Given the description of an element on the screen output the (x, y) to click on. 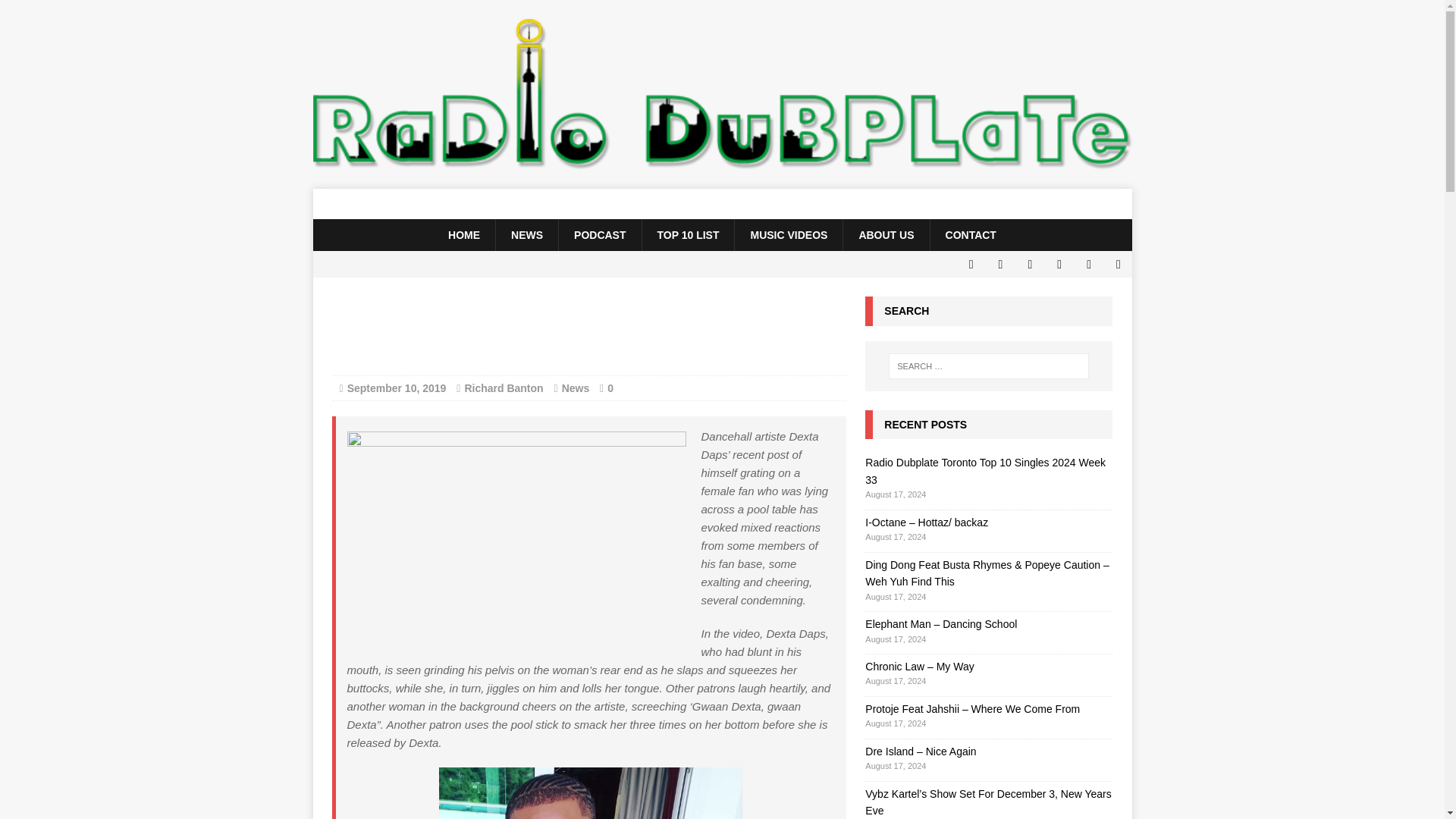
News (575, 387)
TOP 10 LIST (688, 234)
HOME (463, 234)
NEWS (526, 234)
Radio Dubplate (722, 204)
September 10, 2019 (396, 387)
Richard Banton (503, 387)
CONTACT (970, 234)
ABOUT US (885, 234)
PODCAST (598, 234)
